Given the description of an element on the screen output the (x, y) to click on. 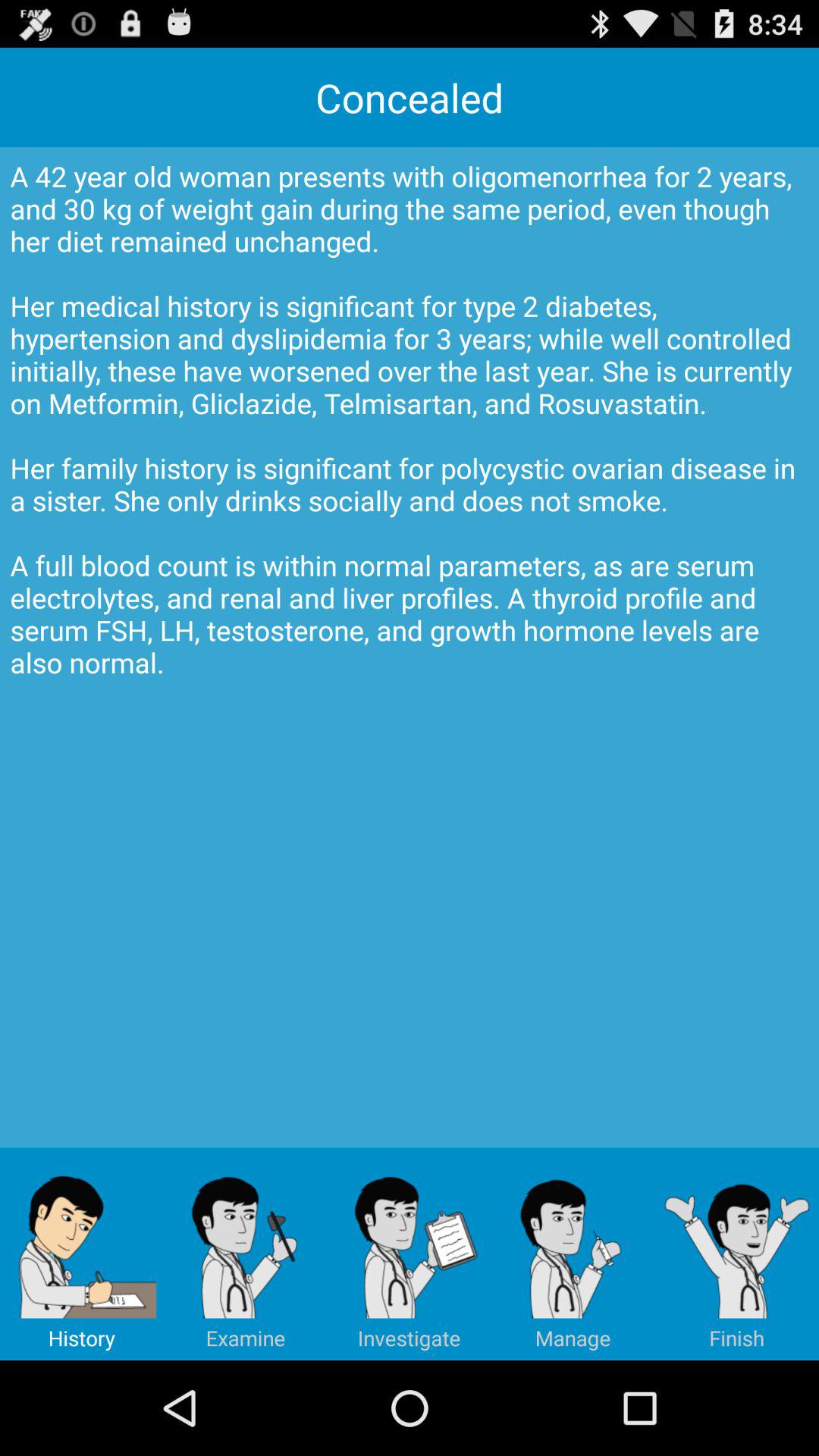
tap a 42 year app (409, 647)
